Given the description of an element on the screen output the (x, y) to click on. 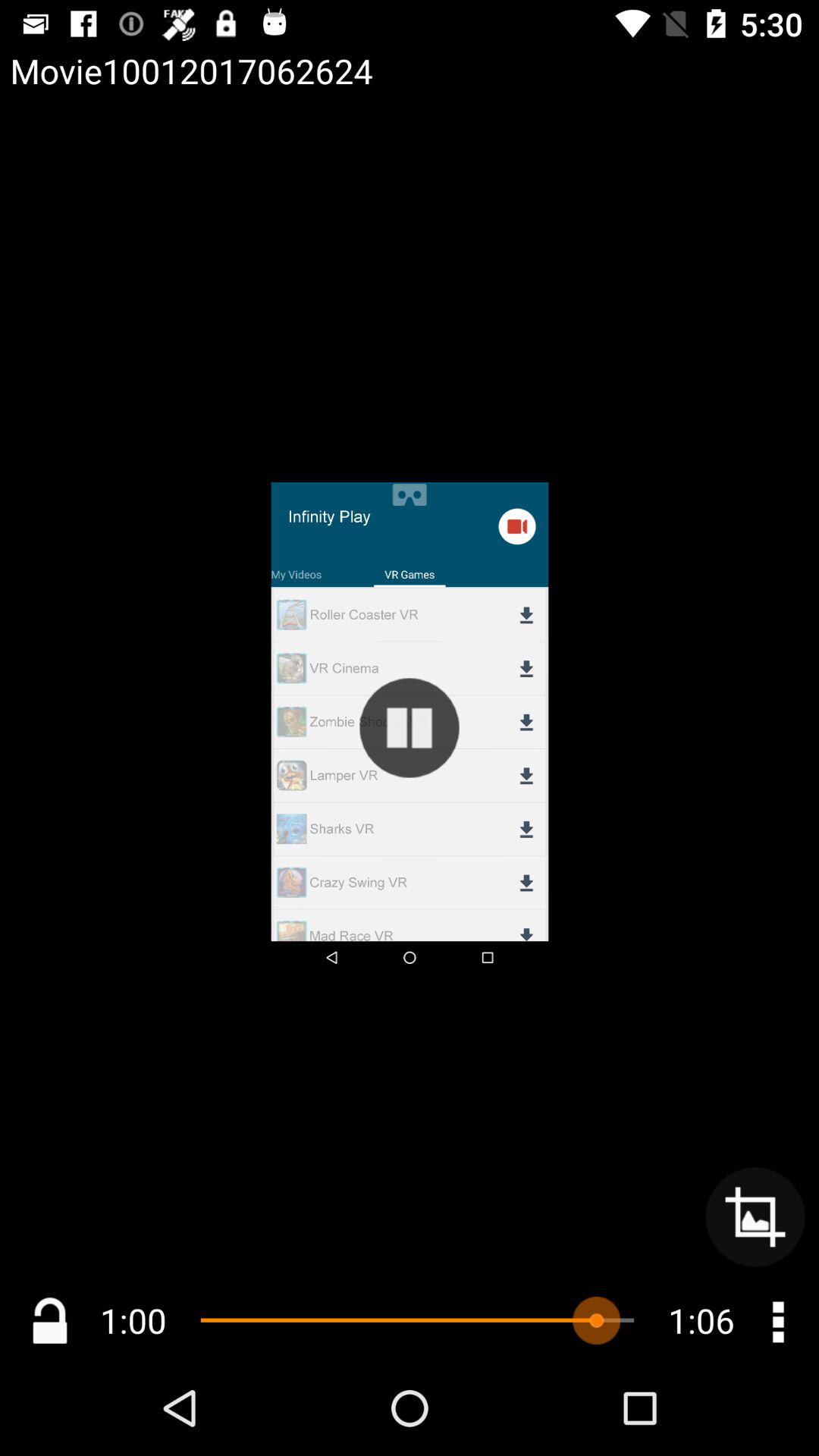
lock unlock option (49, 1320)
